Given the description of an element on the screen output the (x, y) to click on. 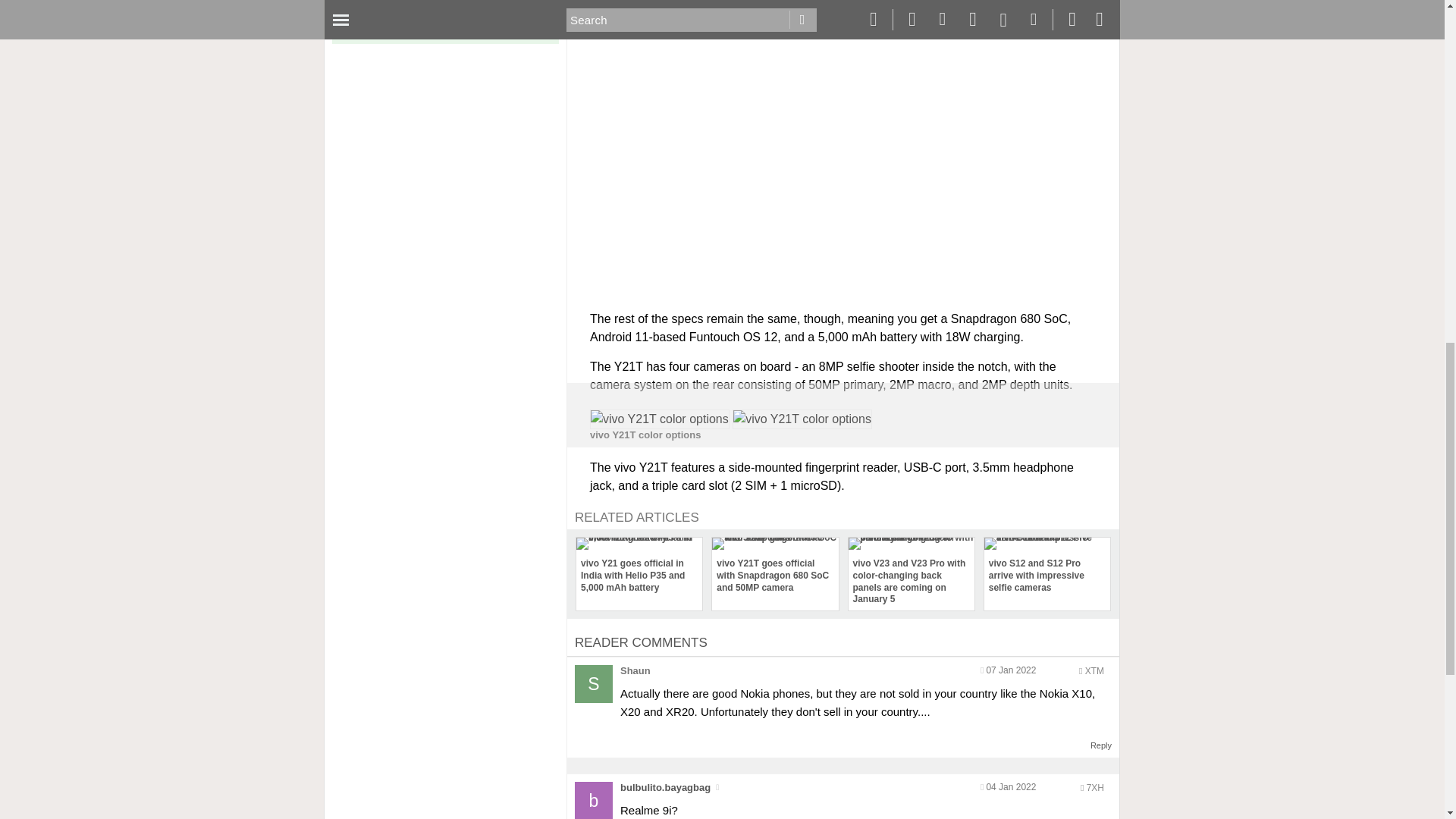
vivo S12 and S12 Pro arrive with impressive selfie cameras (1046, 567)
Encoded anonymized location (1094, 787)
Reply to this post (1101, 745)
Encoded anonymized location (1093, 670)
READER COMMENTS (641, 642)
